Given the description of an element on the screen output the (x, y) to click on. 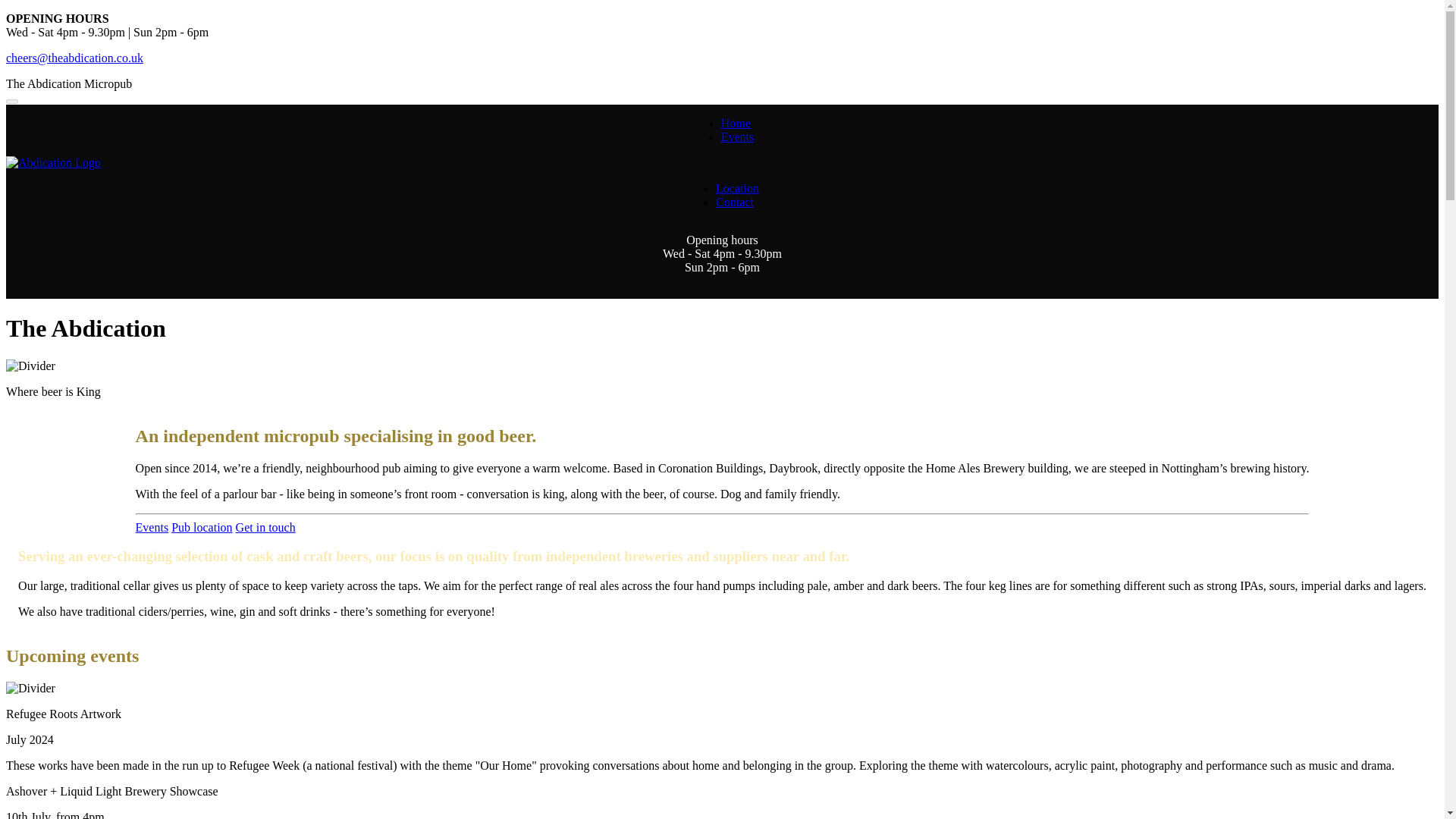
Get in touch (265, 526)
Location (737, 187)
Contact (735, 201)
Home (735, 123)
Events (151, 526)
Events (737, 136)
Pub location (201, 526)
